Given the description of an element on the screen output the (x, y) to click on. 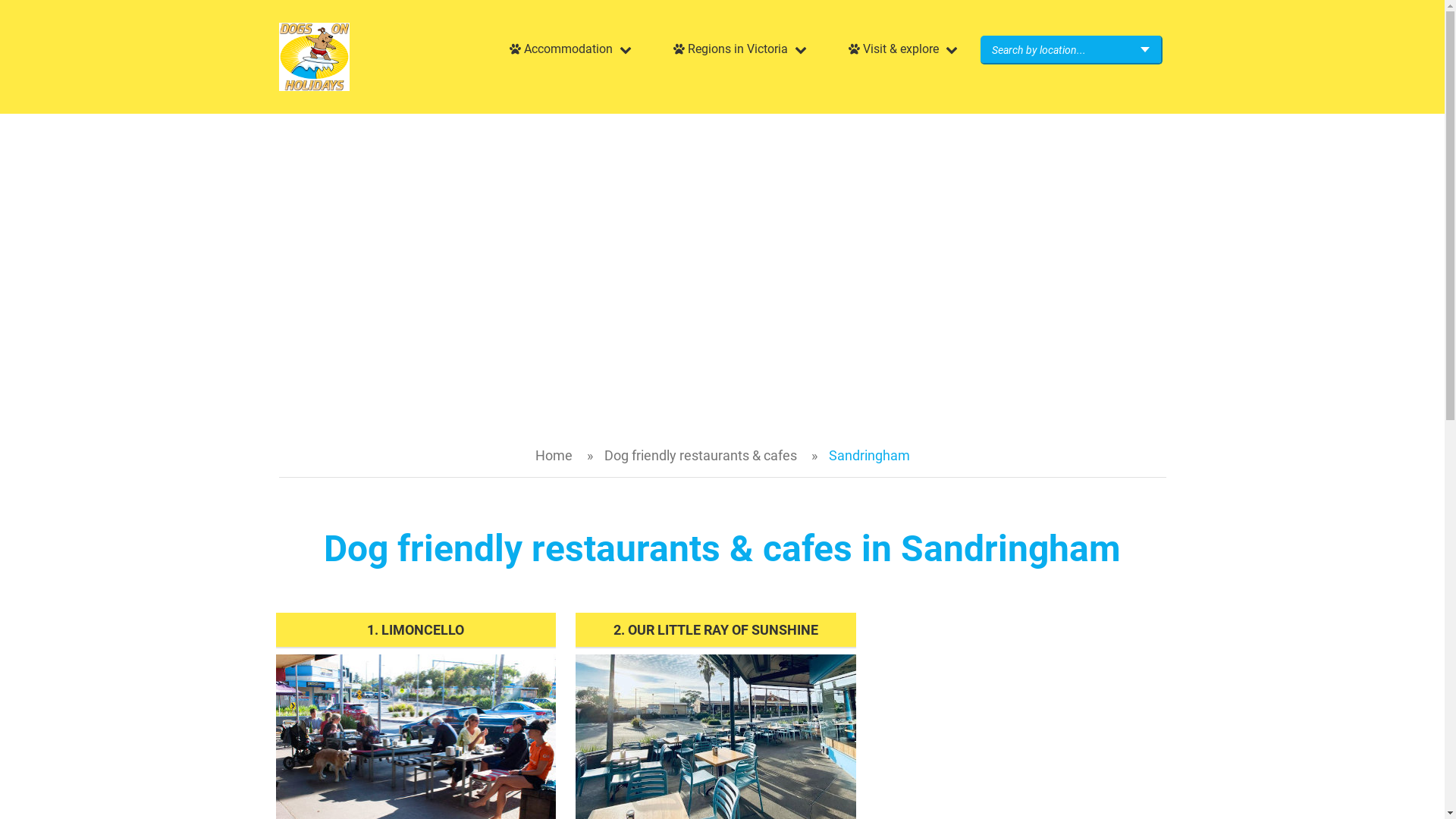
Visit & explore Element type: text (900, 49)
Dog friendly restaurants & cafes Element type: text (699, 455)
Accommodation Element type: text (567, 49)
Search by location... Element type: text (1070, 49)
Home Element type: text (553, 455)
Regions in Victoria Element type: text (737, 49)
